Given the description of an element on the screen output the (x, y) to click on. 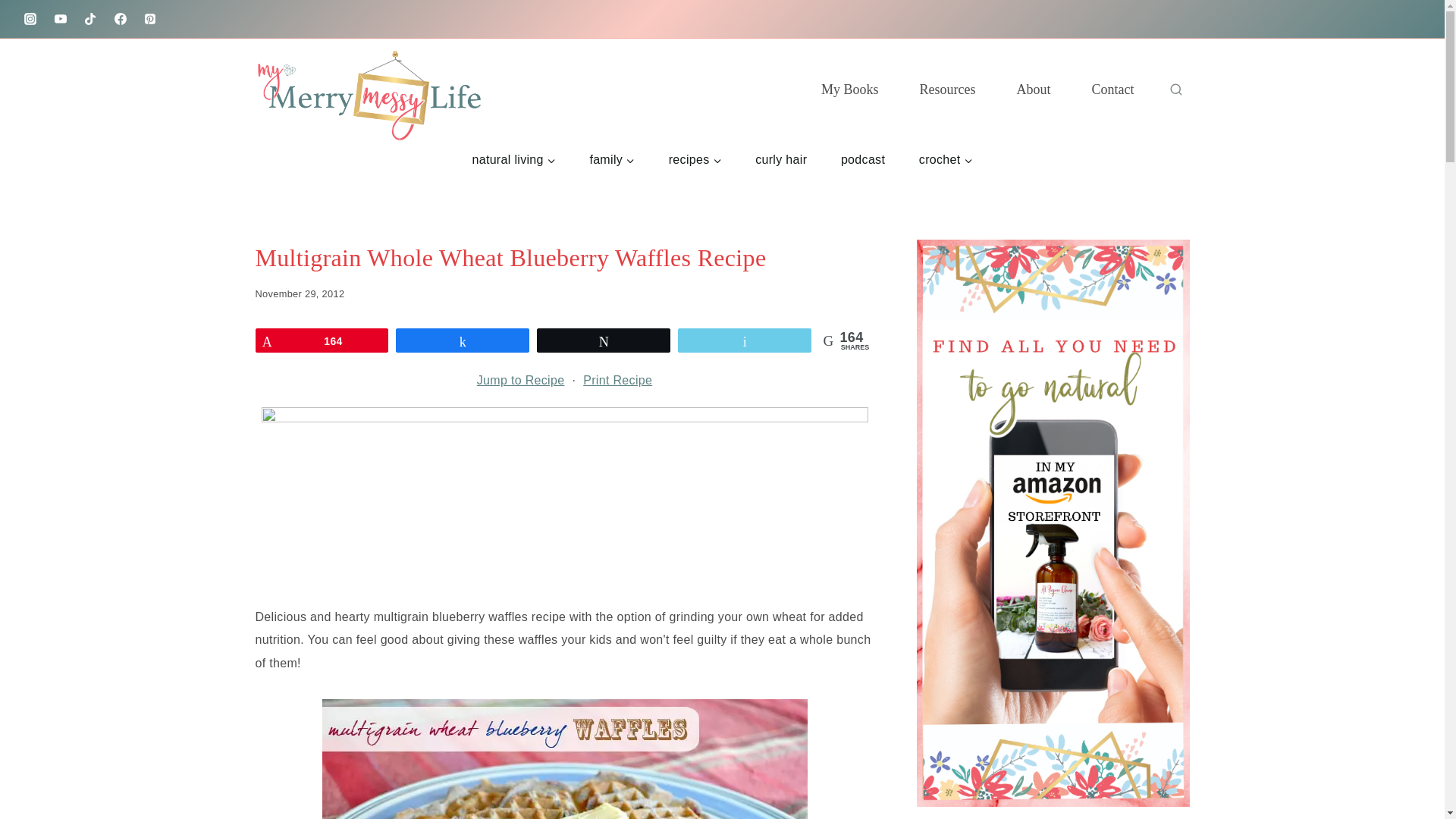
Resources (947, 89)
natural living (513, 159)
Contact (1112, 89)
My Books (849, 89)
family (611, 159)
Jump to Recipe (520, 380)
recipes (694, 159)
About (1033, 89)
